Given the description of an element on the screen output the (x, y) to click on. 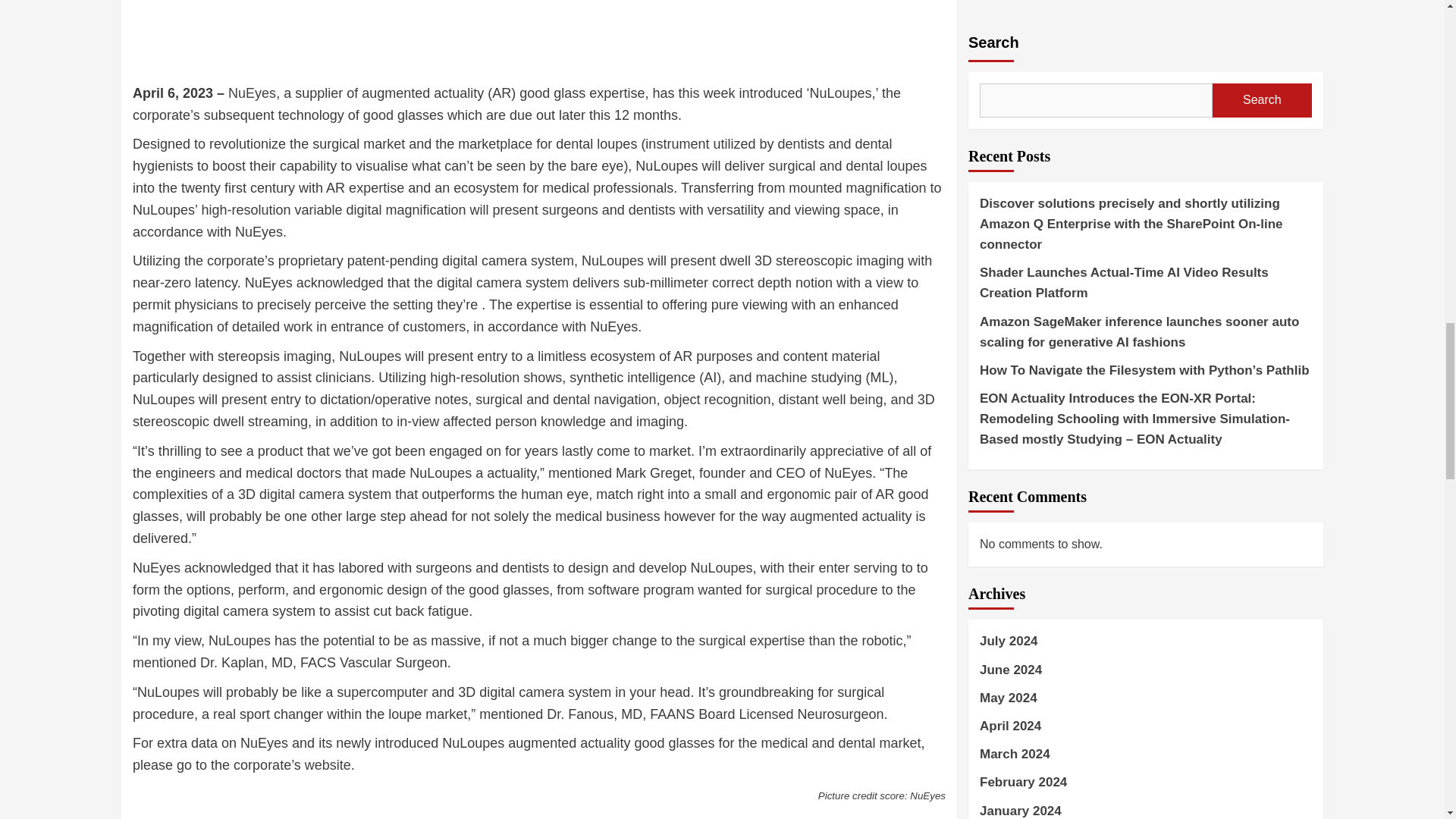
website (327, 765)
NuEyes (252, 92)
